Given the description of an element on the screen output the (x, y) to click on. 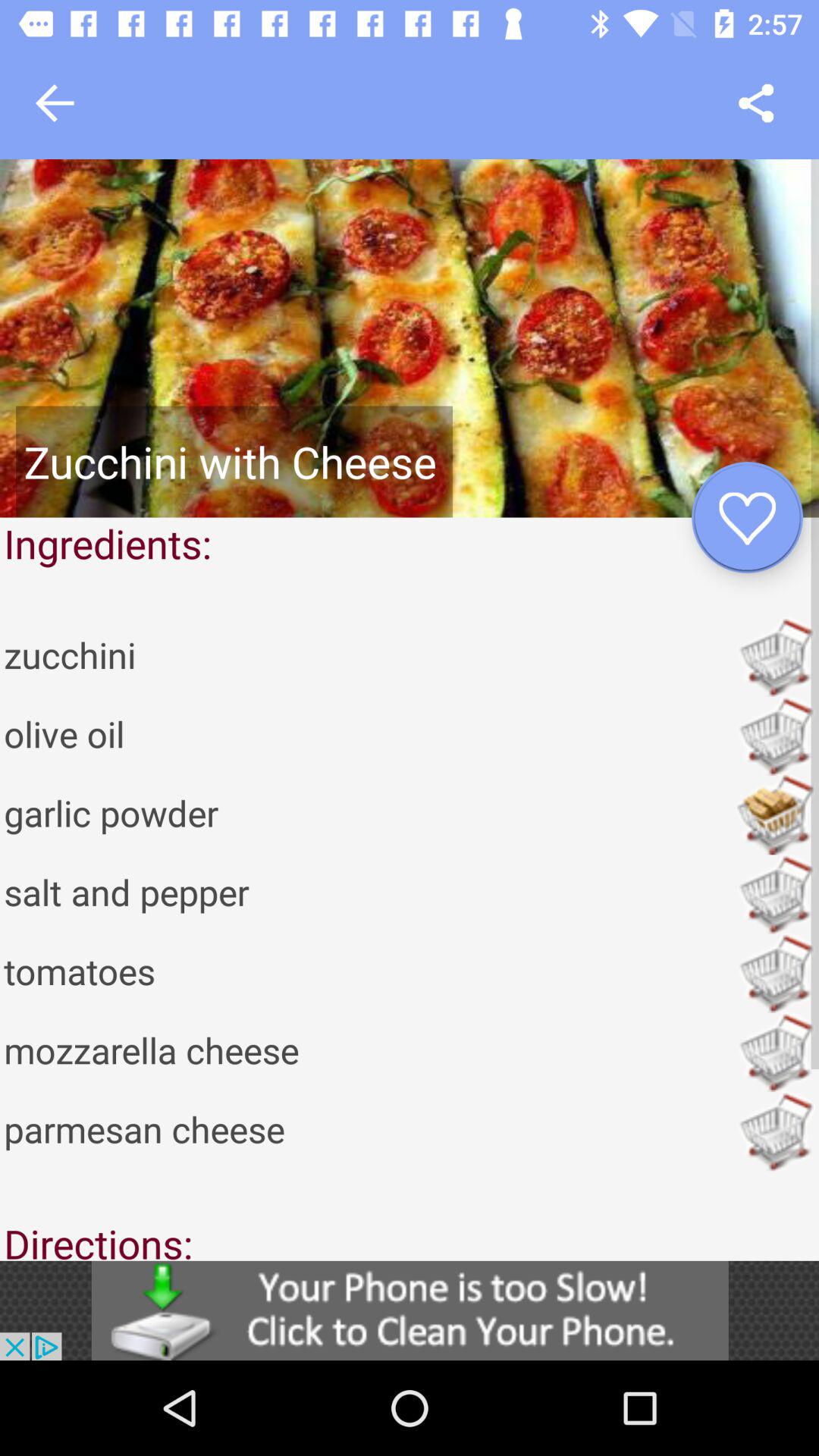
go to share (756, 103)
